Given the description of an element on the screen output the (x, y) to click on. 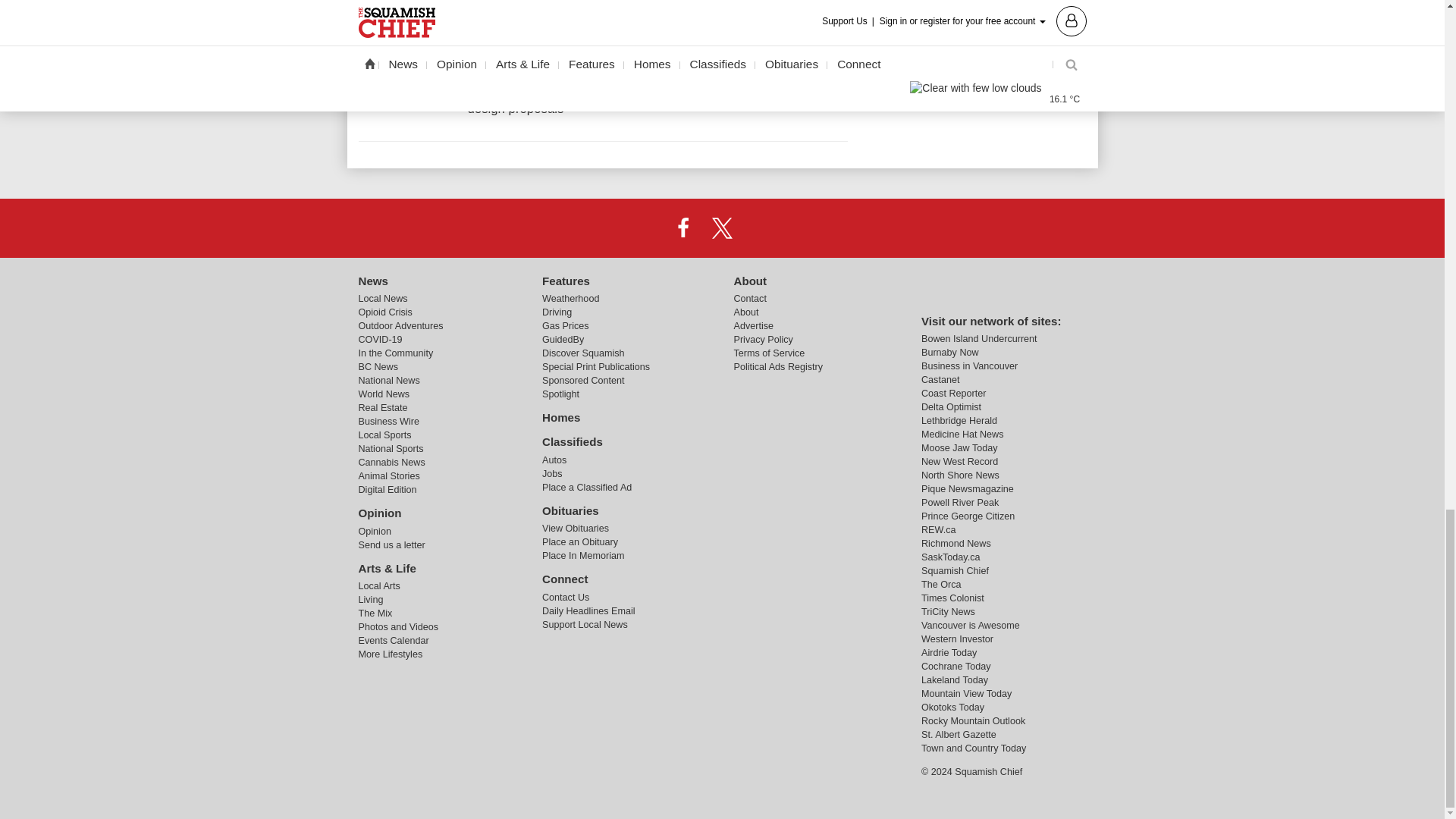
Facebook (683, 226)
Instagram (760, 226)
X (721, 226)
